Given the description of an element on the screen output the (x, y) to click on. 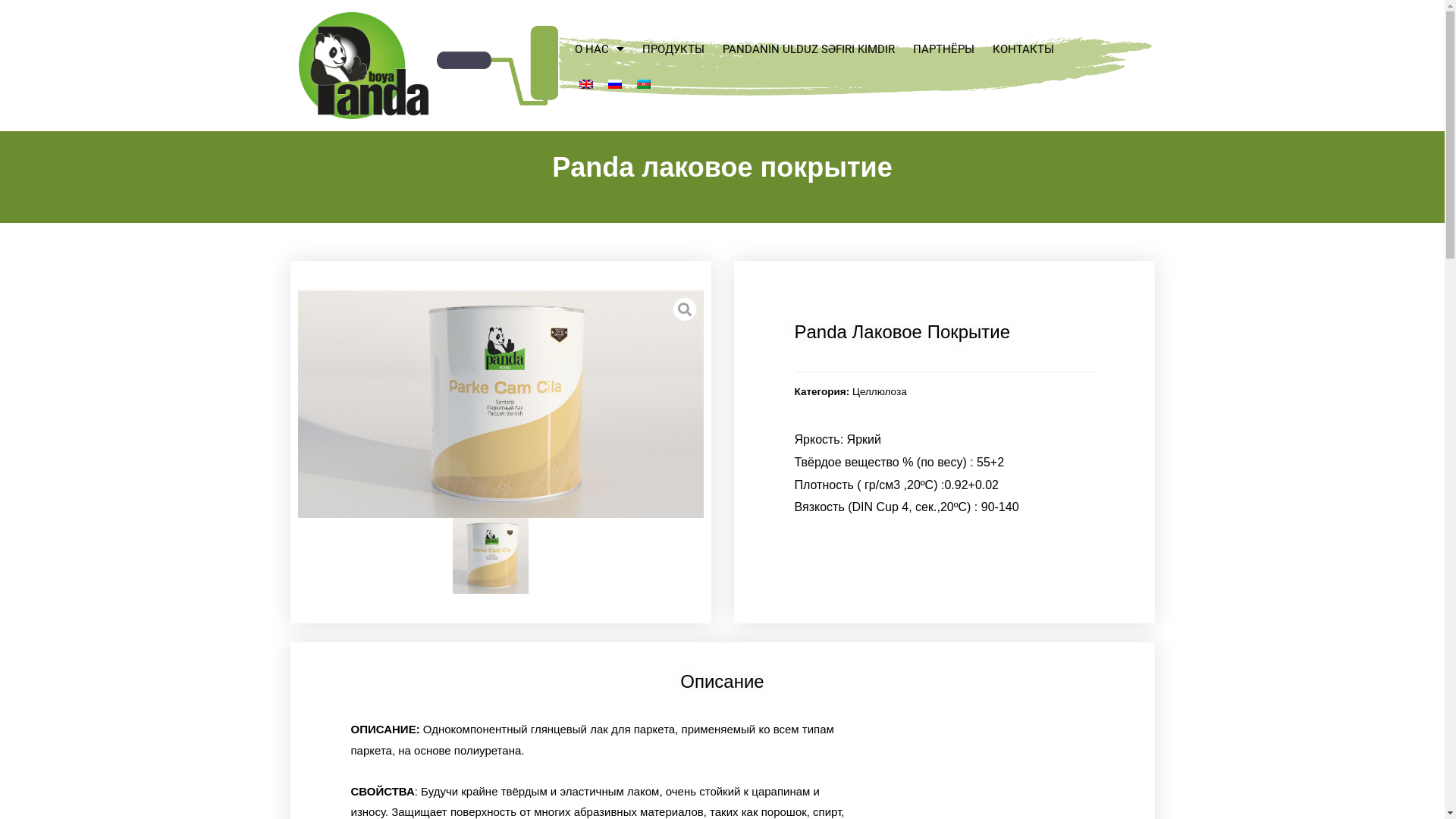
parke_cam_ps Element type: hover (499, 404)
